Given the description of an element on the screen output the (x, y) to click on. 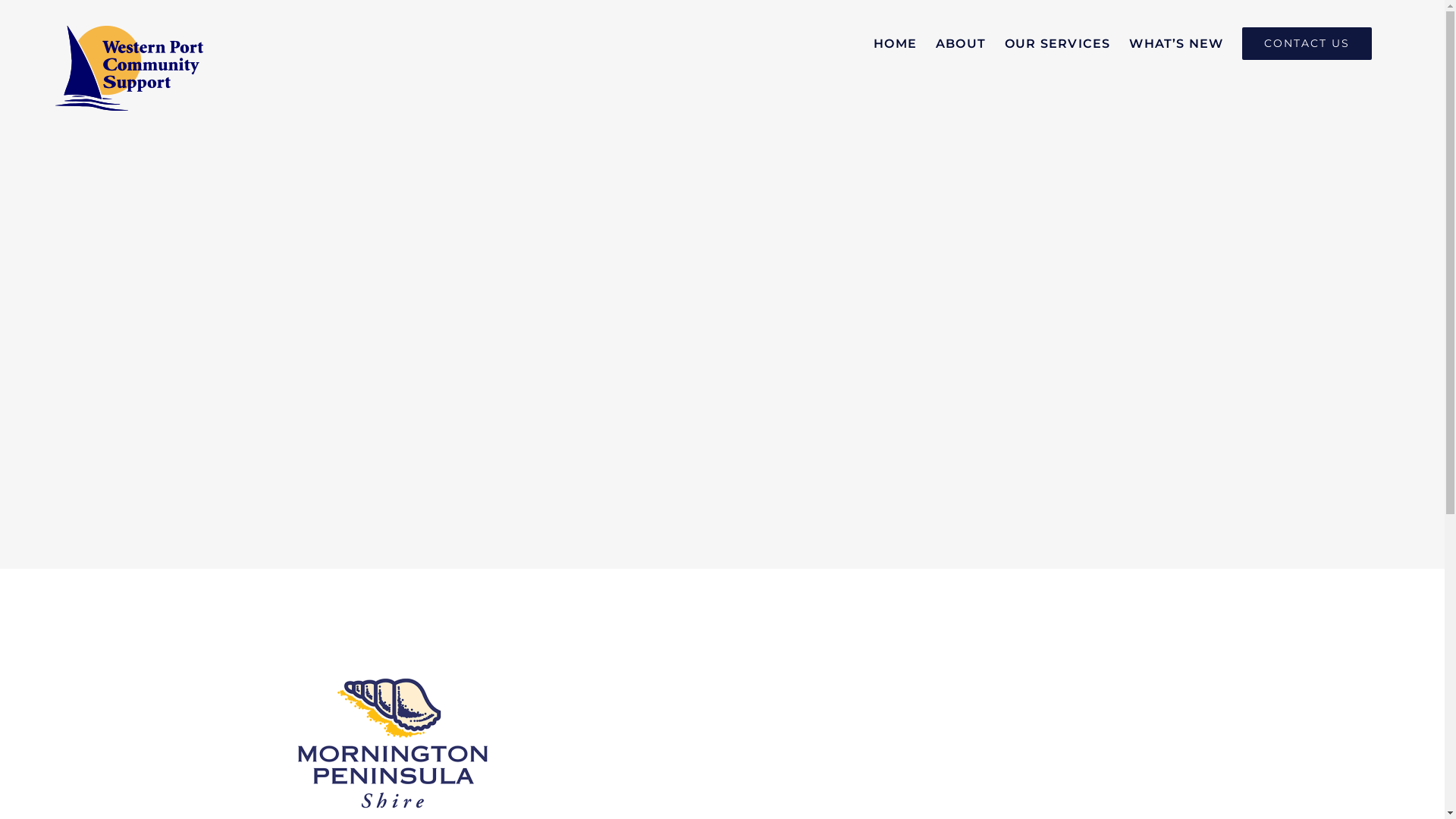
HOME Element type: text (894, 43)
OUR SERVICES Element type: text (1057, 43)
ABOUT Element type: text (960, 43)
CONTACT US Element type: text (1306, 43)
